Given the description of an element on the screen output the (x, y) to click on. 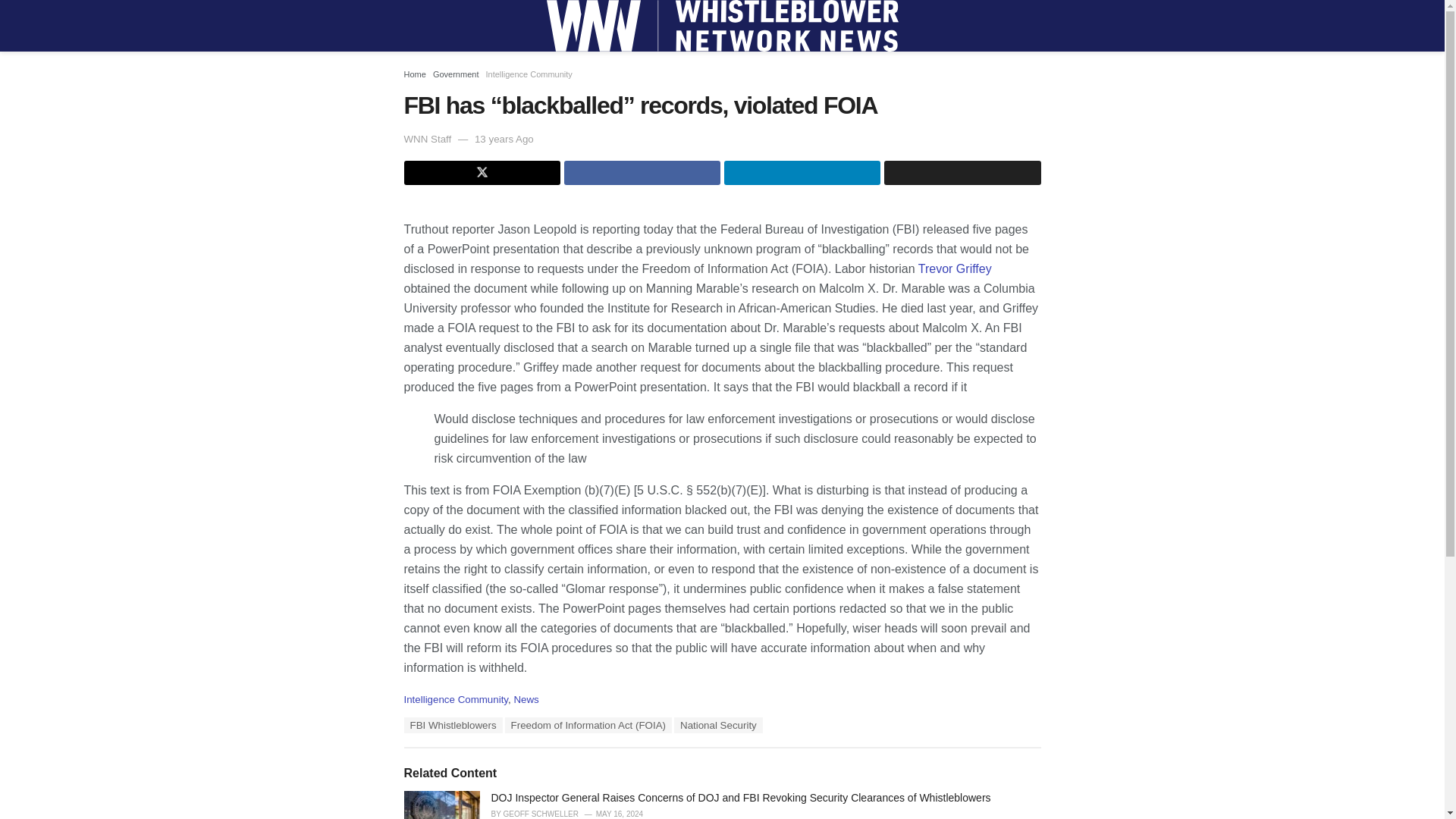
Trevor Griffey (954, 268)
Intelligence Community (528, 73)
Government (455, 73)
News (525, 699)
Intelligence Community (455, 699)
Home (414, 73)
FBI Whistleblowers (452, 725)
National Security (718, 725)
